Given the description of an element on the screen output the (x, y) to click on. 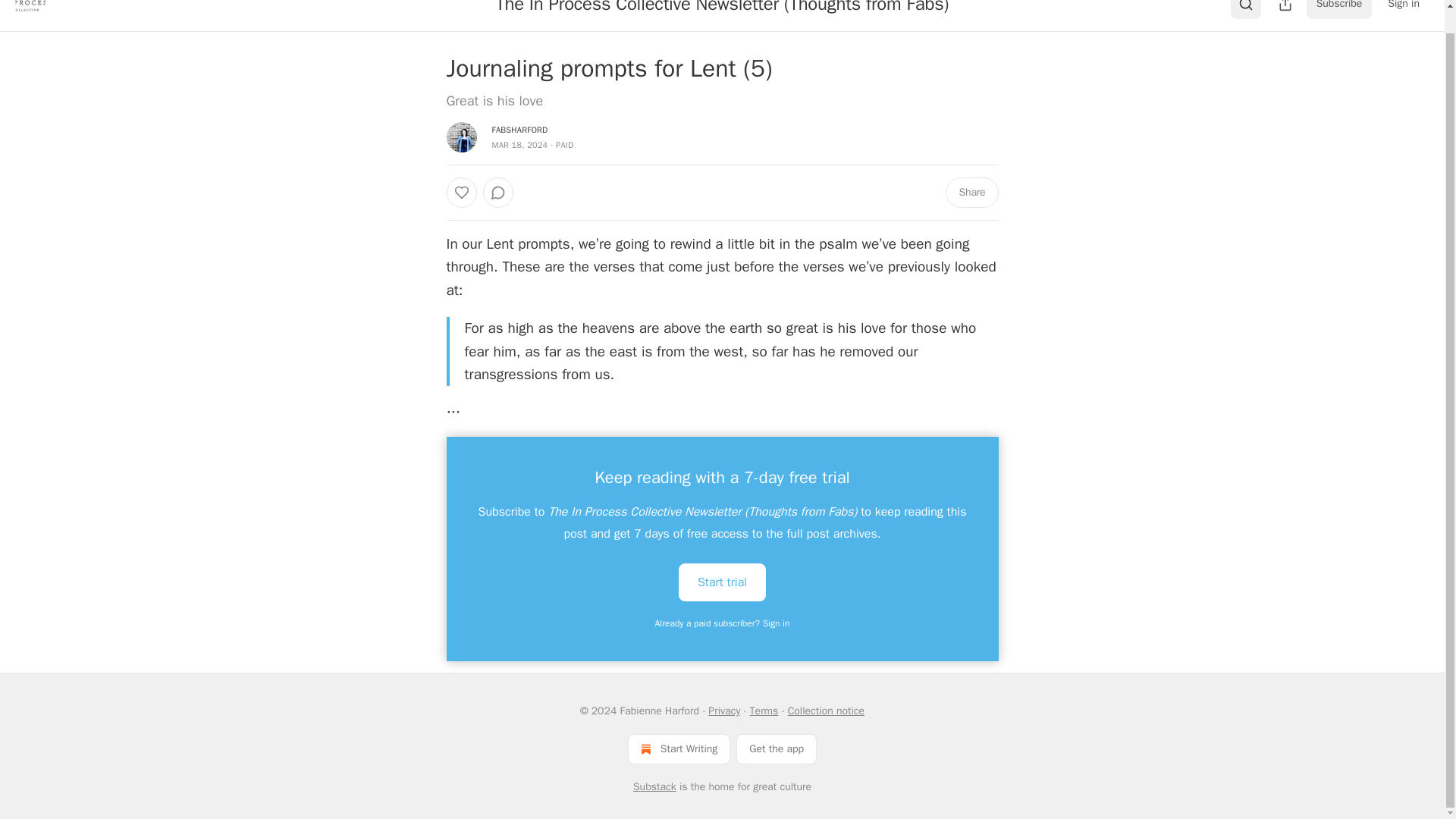
Start Writing (678, 748)
Terms (763, 710)
Start trial (721, 582)
Subscribe (1339, 9)
Share (970, 192)
Substack (655, 786)
Collection notice (825, 710)
Sign in (1403, 9)
FABSHARFORD (519, 129)
Get the app (776, 748)
Already a paid subscriber? Sign in (722, 623)
Start trial (721, 581)
Privacy (723, 710)
